Given the description of an element on the screen output the (x, y) to click on. 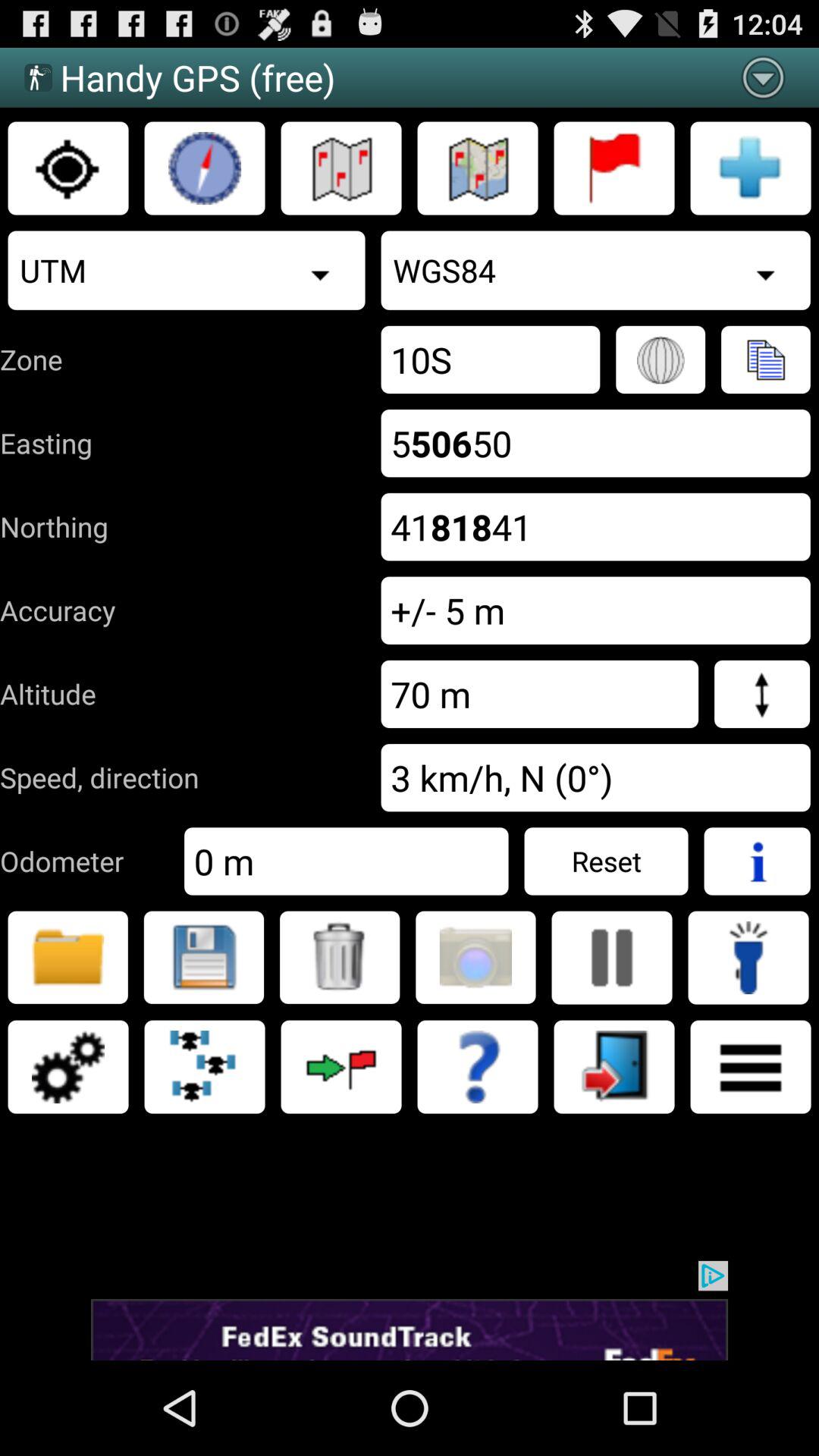
view more information (757, 861)
